Given the description of an element on the screen output the (x, y) to click on. 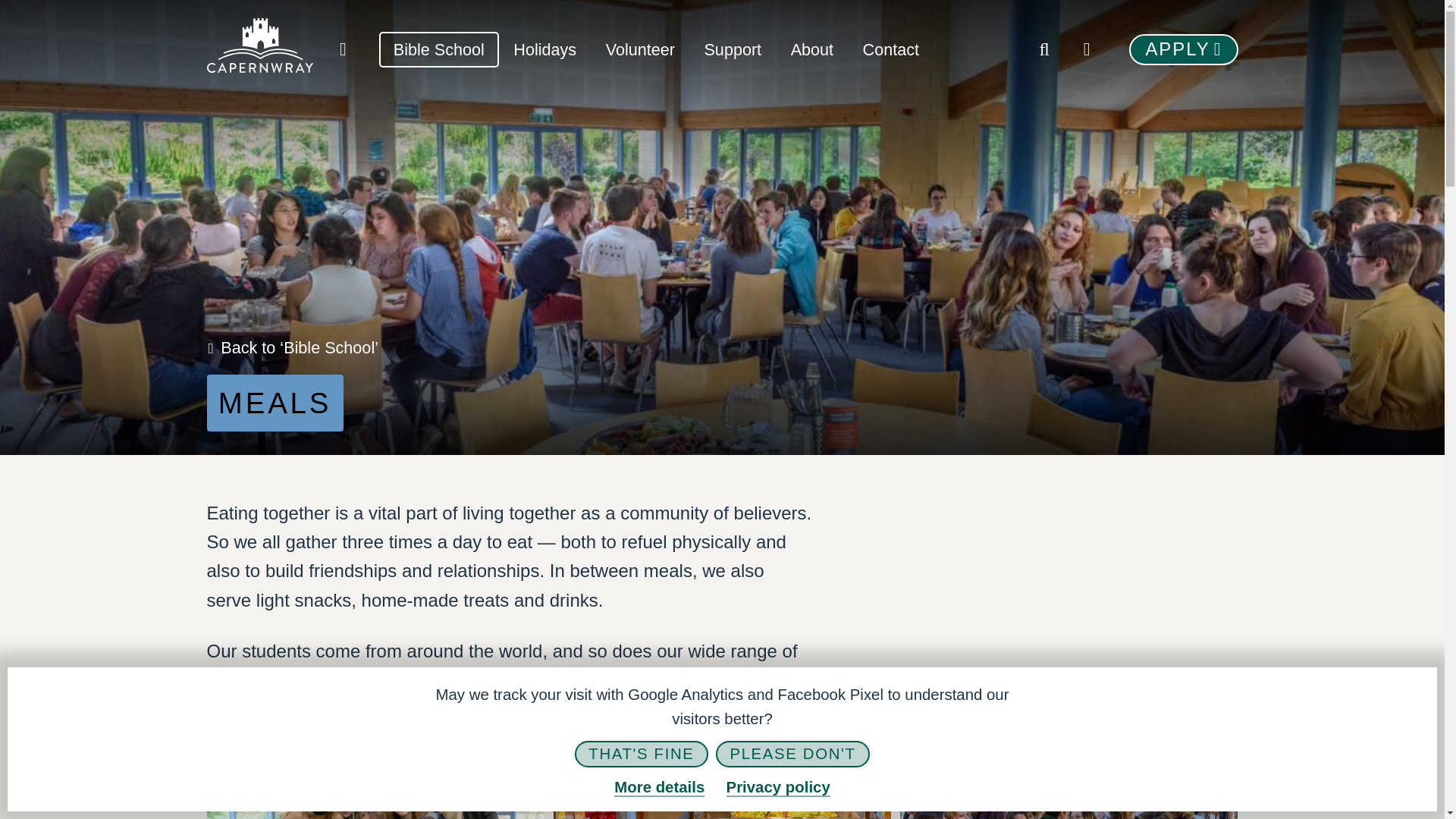
Search the site (1044, 49)
Go to the home page (342, 49)
Click to go to the Capernwray home page (259, 49)
Open the menu (1086, 49)
